Given the description of an element on the screen output the (x, y) to click on. 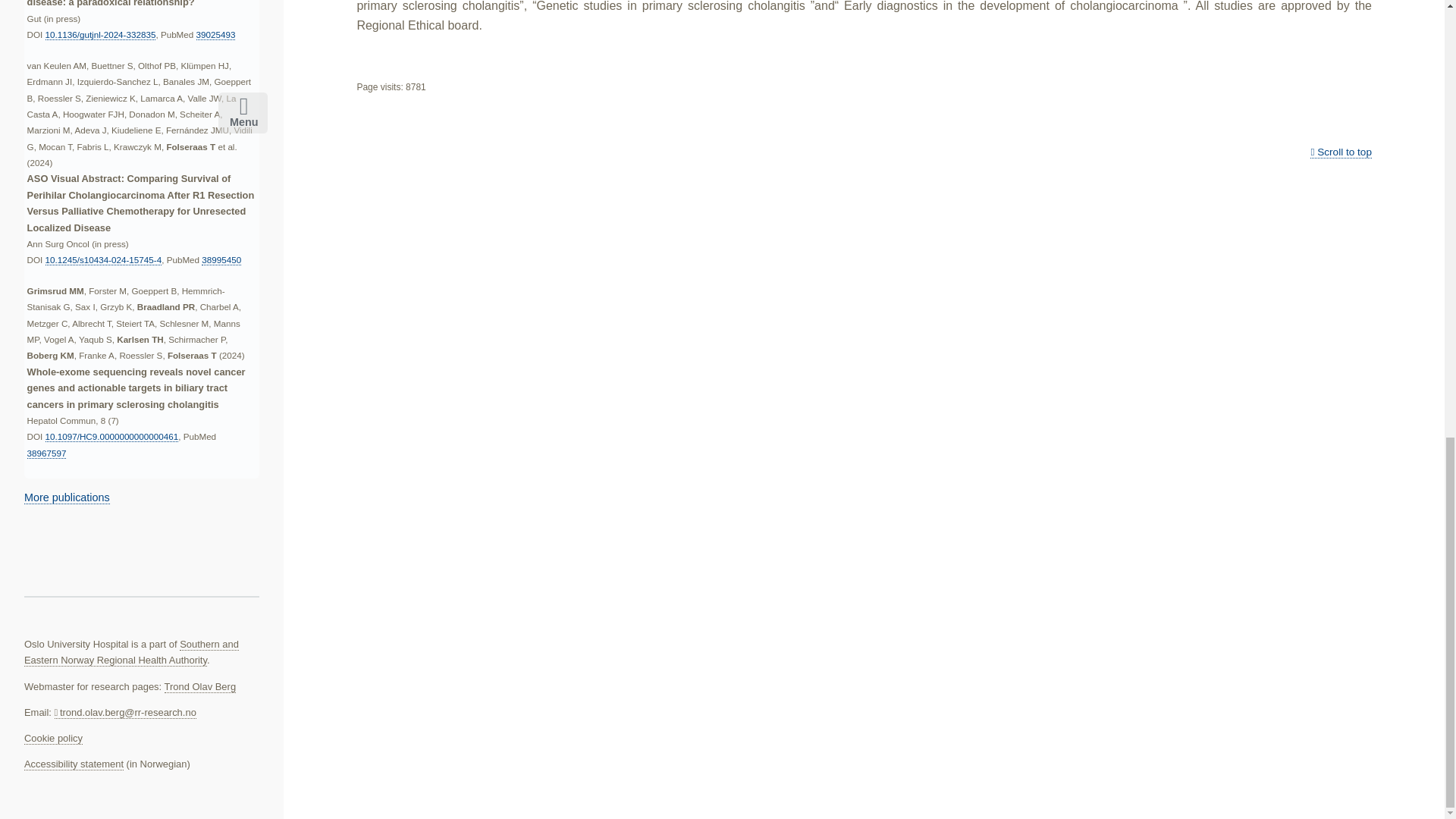
39025493 (215, 34)
38995450 (221, 259)
Scroll to top (1340, 152)
38967597 (46, 452)
More publications (67, 497)
